Given the description of an element on the screen output the (x, y) to click on. 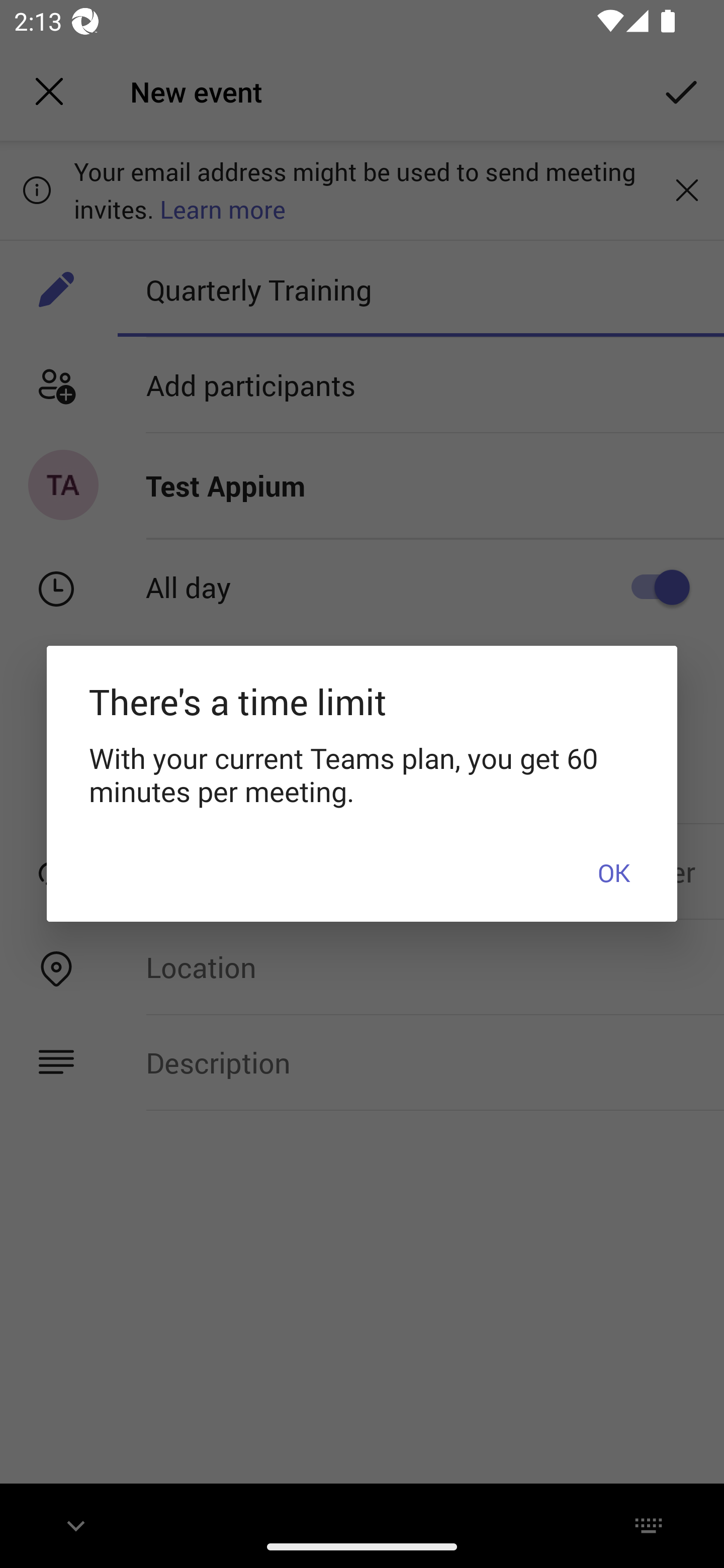
OK (613, 871)
